Given the description of an element on the screen output the (x, y) to click on. 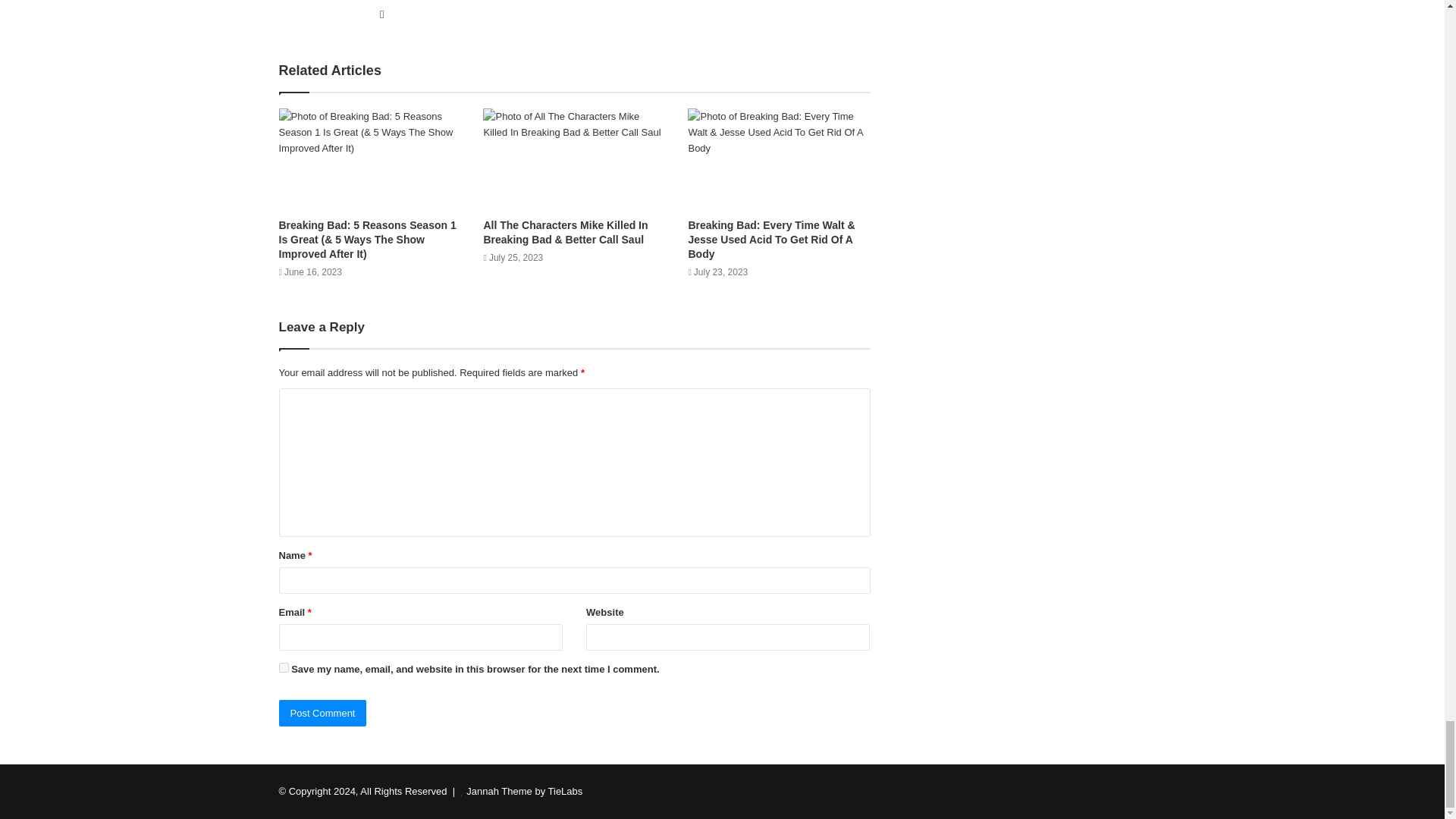
Website (381, 13)
Post Comment (322, 713)
Post Comment (322, 713)
yes (283, 667)
